Given the description of an element on the screen output the (x, y) to click on. 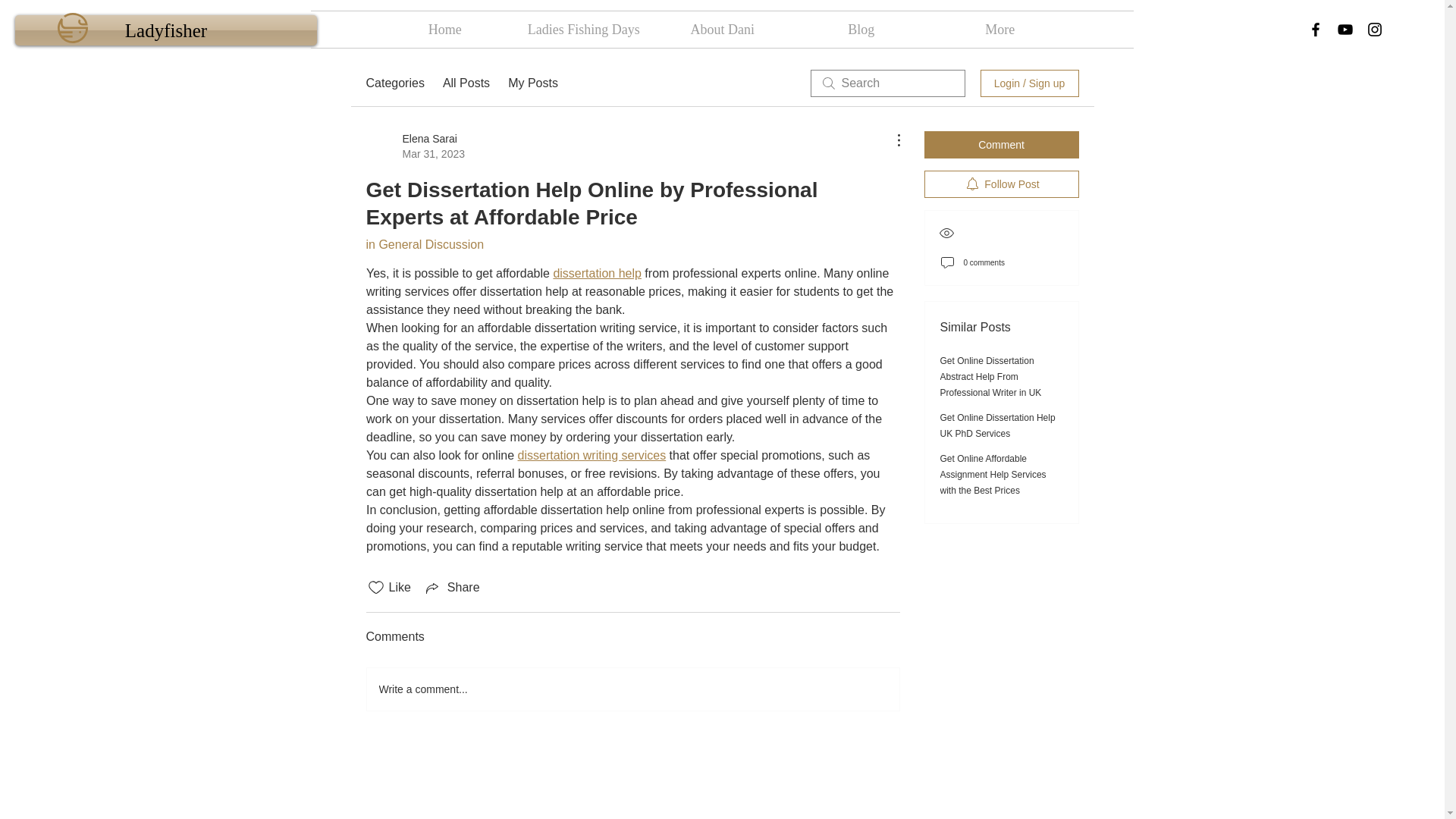
Ladies Fishing Days (582, 29)
Share (451, 587)
Write a comment... (632, 689)
Home (444, 29)
Ladyfisher (165, 30)
Get Online Dissertation Help UK PhD Services (997, 425)
Comment (1000, 144)
Blog (861, 29)
dissertation help (597, 273)
